Given the description of an element on the screen output the (x, y) to click on. 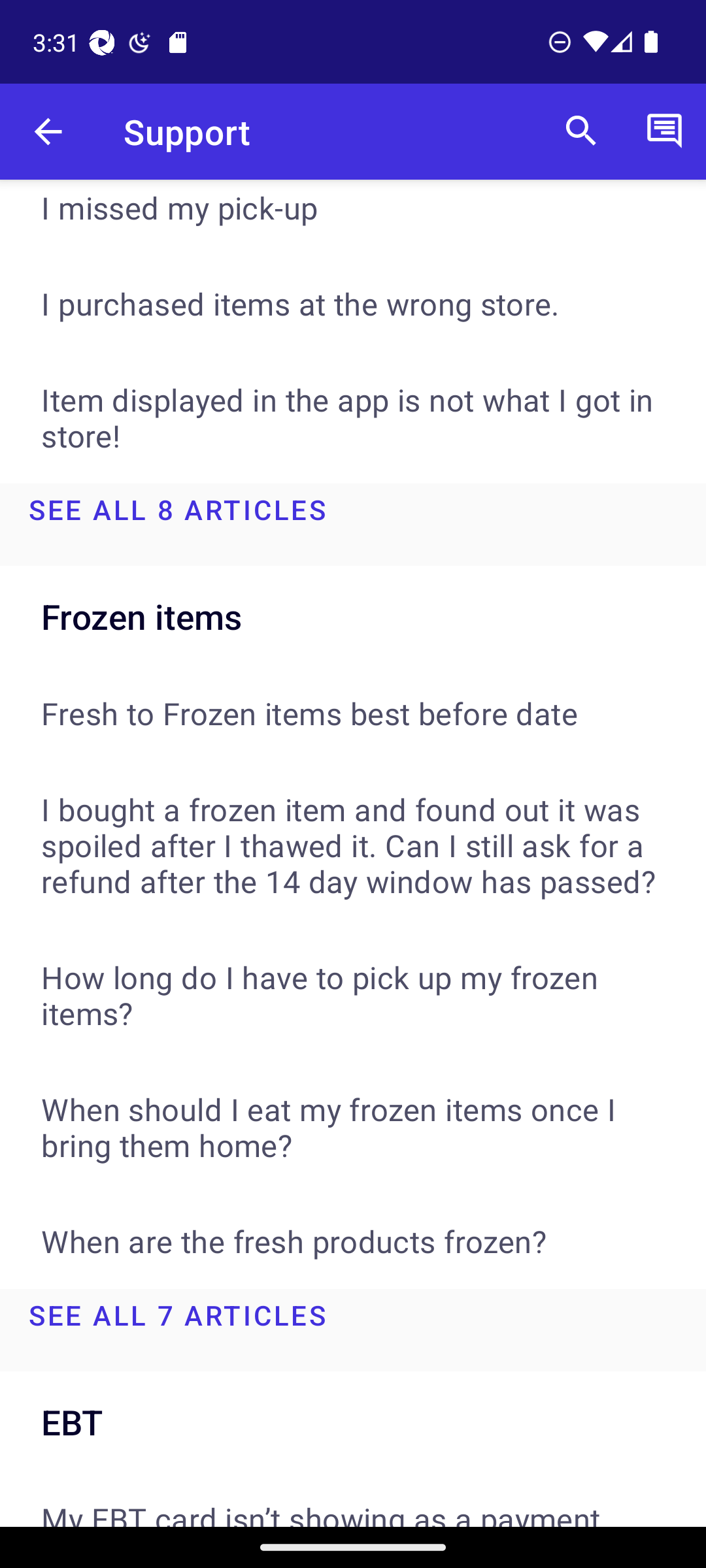
Navigate up (48, 131)
Search (581, 131)
Conversations (664, 131)
I missed my pick-up  (353, 217)
I purchased items at the wrong store. (353, 303)
SEE ALL 8 ARTICLES (353, 524)
Fresh to Frozen items best before date  (353, 712)
How long do I have to pick up my frozen items? (353, 994)
When are the fresh products frozen? (353, 1240)
SEE ALL 7 ARTICLES (353, 1330)
